Given the description of an element on the screen output the (x, y) to click on. 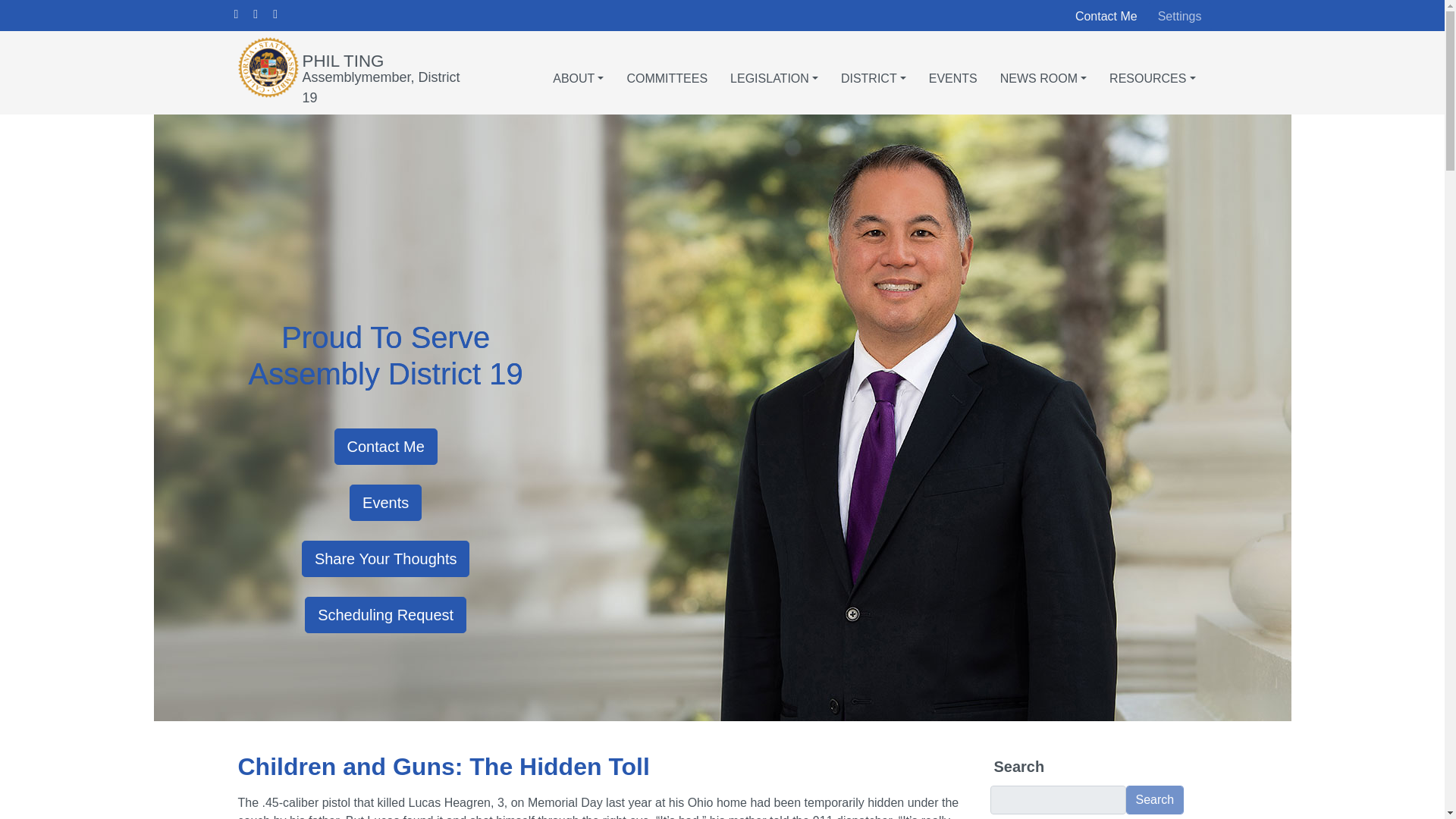
Settings (1179, 16)
Home (342, 59)
PHIL TING (342, 59)
COMMITTEES (666, 72)
Home (270, 66)
Search (1154, 799)
EVENTS (952, 72)
Contact Me (1106, 15)
Enter the terms you wish to search for. (1057, 799)
